Given the description of an element on the screen output the (x, y) to click on. 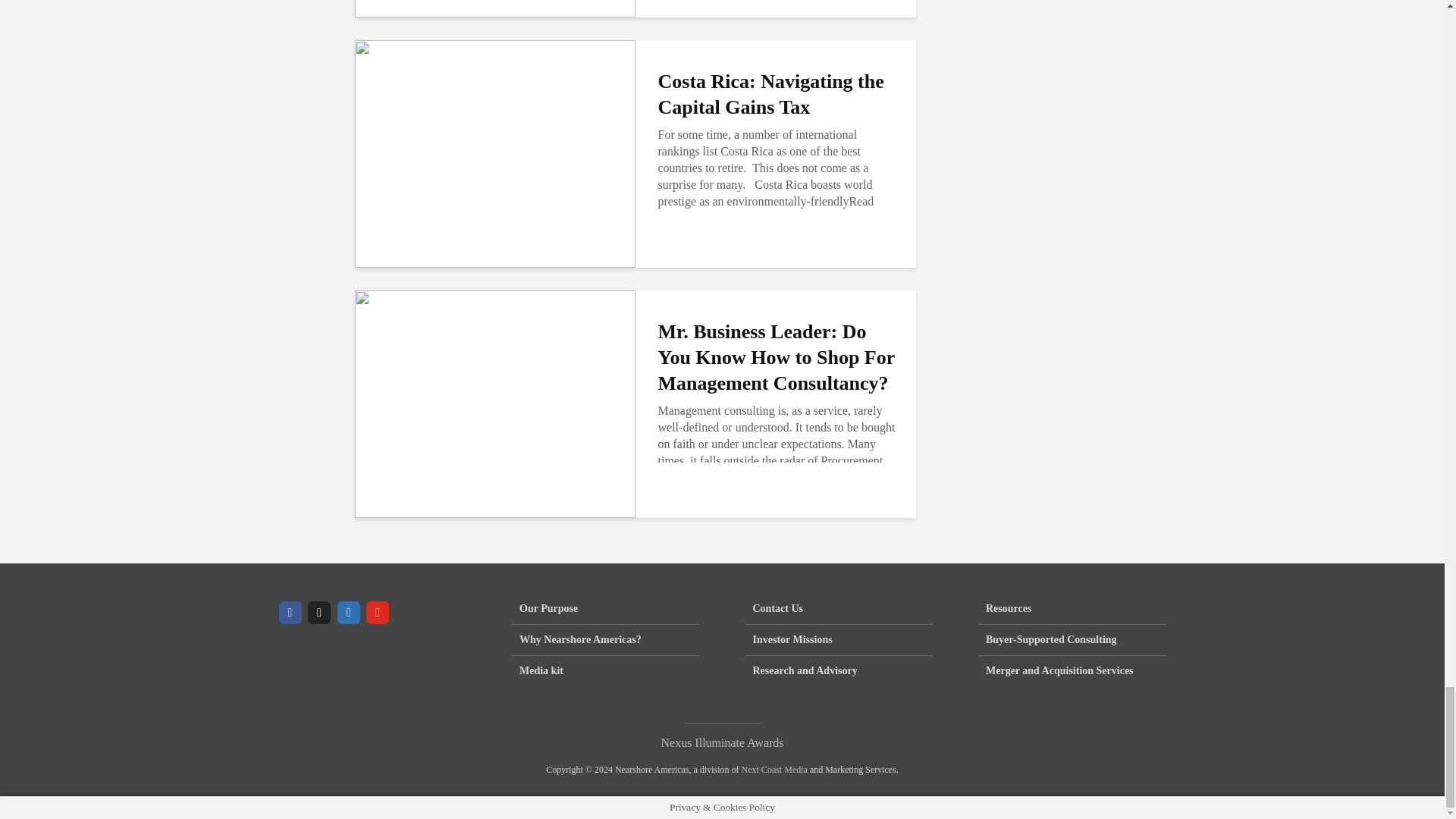
YouTube (377, 612)
Facebook (290, 612)
Linkedin (347, 612)
Costa Rica: Navigating the Capital Gains Tax (494, 151)
